Given the description of an element on the screen output the (x, y) to click on. 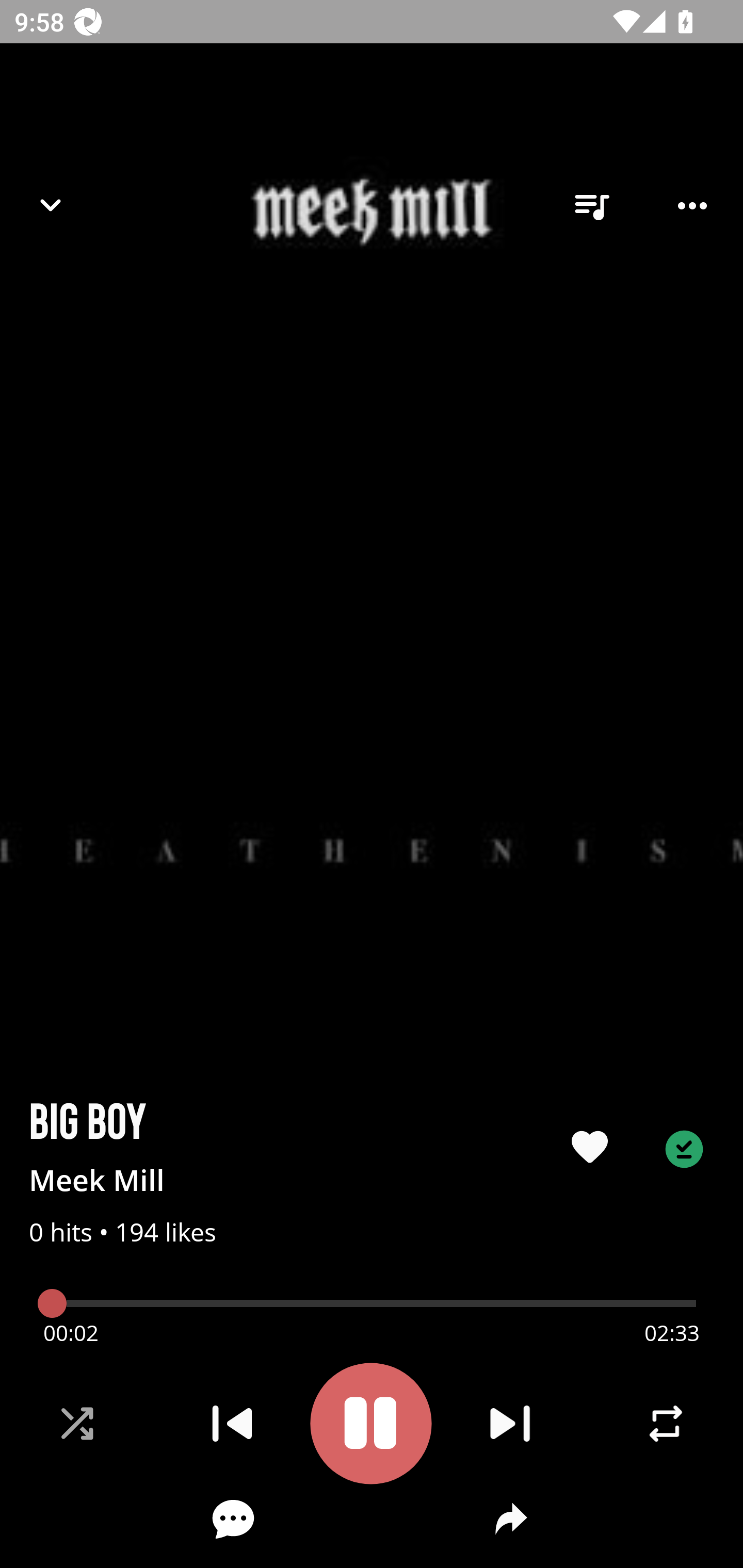
Navigate up (50, 205)
queue (590, 206)
Player options (692, 206)
